Given the description of an element on the screen output the (x, y) to click on. 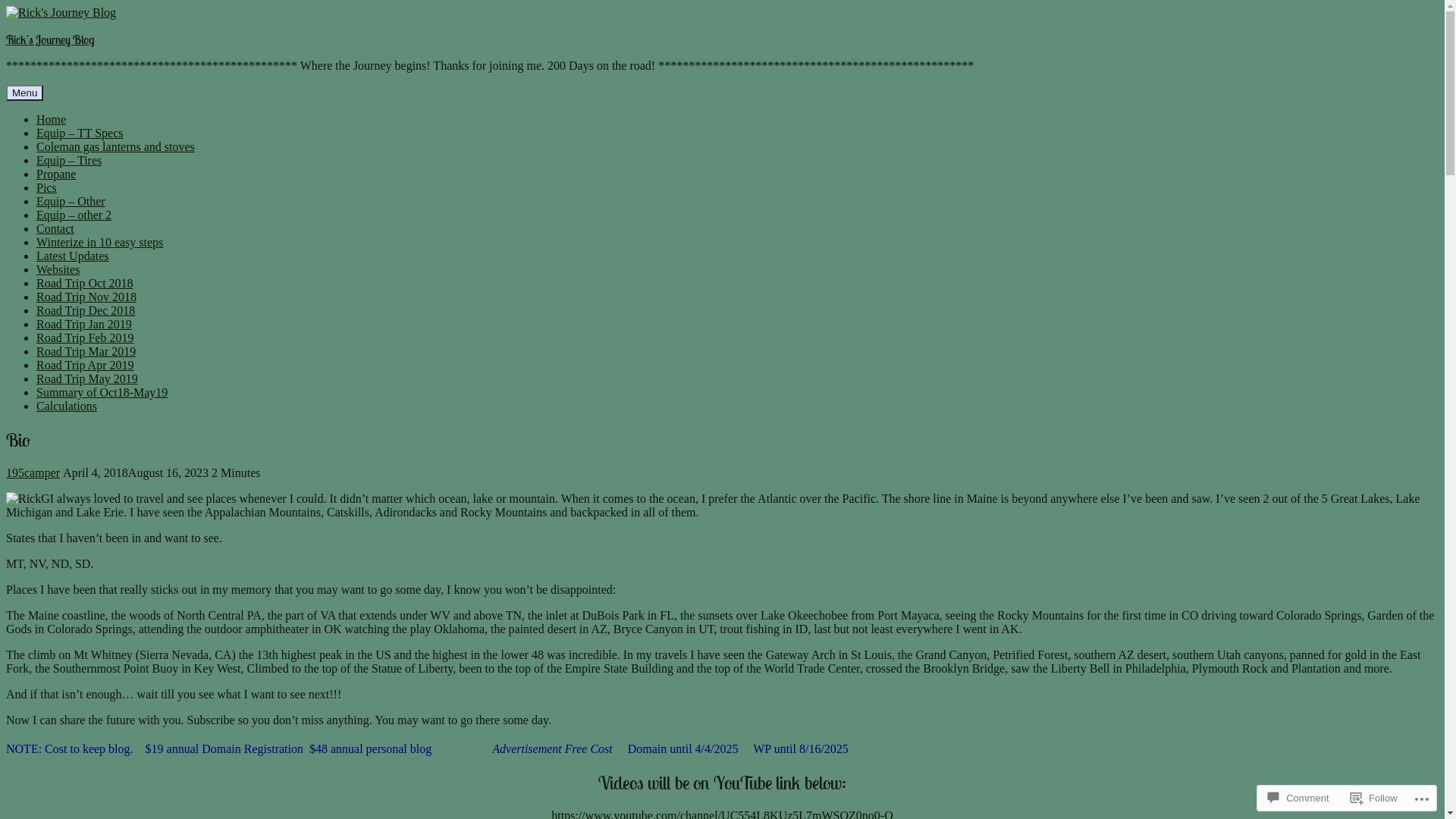
Home Element type: text (50, 118)
Road Trip Mar 2019 Element type: text (85, 351)
Propane Element type: text (55, 173)
Coleman gas lanterns and stoves Element type: text (115, 146)
Road Trip Nov 2018 Element type: text (86, 296)
Road Trip May 2019 Element type: text (87, 378)
Road Trip Dec 2018 Element type: text (85, 310)
195camper Element type: text (32, 472)
Road Trip Feb 2019 Element type: text (84, 337)
Road Trip Apr 2019 Element type: text (84, 364)
Comment Element type: text (1297, 797)
Calculations Element type: text (66, 405)
Road Trip Oct 2018 Element type: text (84, 282)
Winterize in 10 easy steps Element type: text (99, 241)
Websites Element type: text (57, 269)
Road Trip Jan 2019 Element type: text (83, 323)
Follow Element type: text (1373, 797)
Menu Element type: text (24, 92)
Latest Updates Element type: text (72, 255)
Rick's Journey Blog Element type: text (50, 39)
Pics Element type: text (46, 187)
Skip to content Element type: text (5, 5)
Summary of Oct18-May19 Element type: text (101, 391)
Uncategorized Element type: text (97, 472)
Contact Element type: text (55, 228)
